Given the description of an element on the screen output the (x, y) to click on. 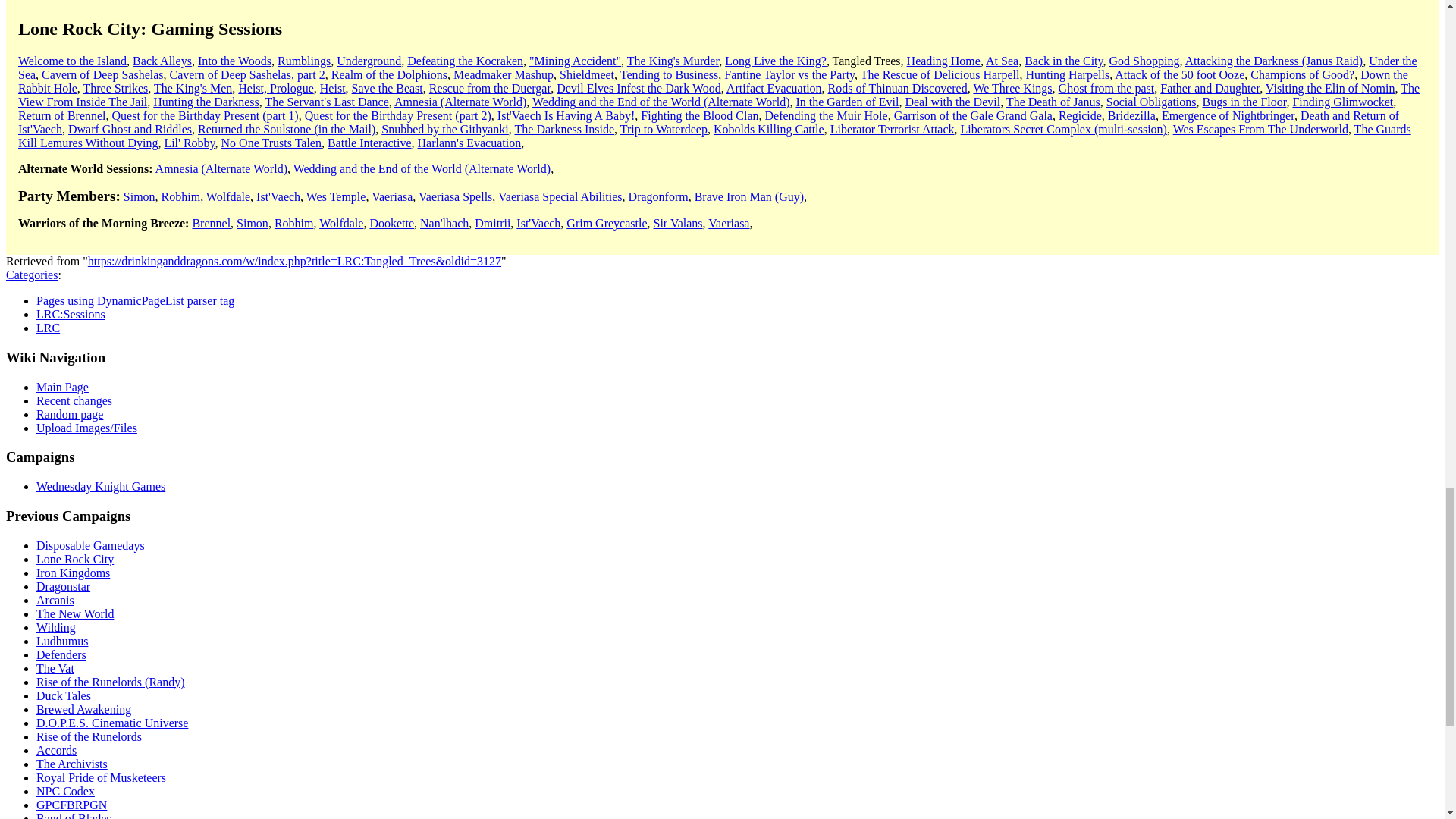
God Shopping (1144, 60)
Tangled Trees (866, 60)
Cavern of Deep Sashelas, part 2 (247, 74)
Into the Woods (234, 60)
Realm of the Dolphions (388, 74)
"Mining Accident" (575, 60)
LRC:Welcome to the Island (71, 60)
At Sea (1001, 60)
LRC:Into the Woods (234, 60)
LRC:"Mining Accident" (575, 60)
